Given the description of an element on the screen output the (x, y) to click on. 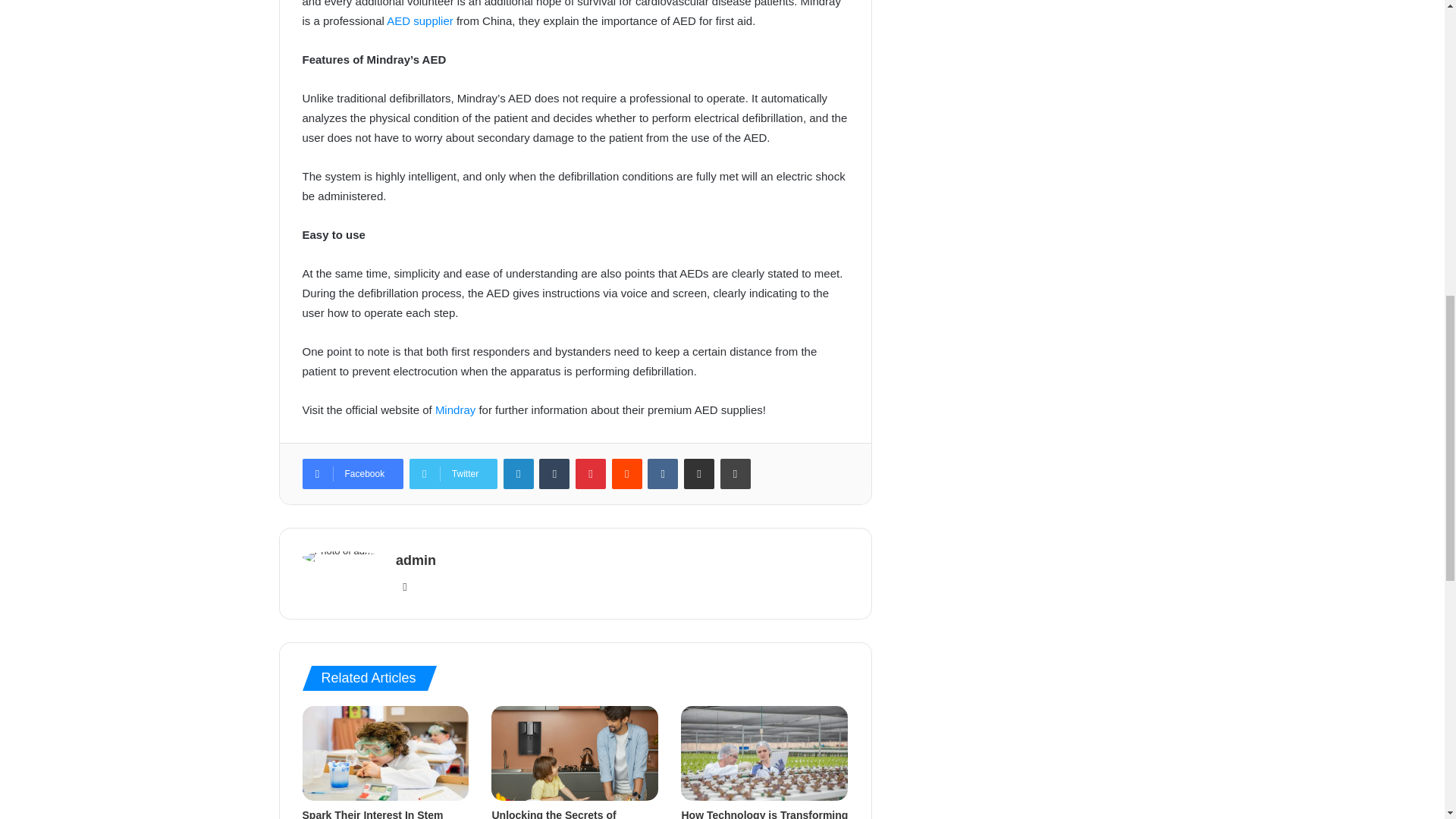
Pinterest (590, 473)
admin (415, 560)
Share via Email (699, 473)
Print (735, 473)
Facebook (352, 473)
LinkedIn (518, 473)
Reddit (626, 473)
Reddit (626, 473)
LinkedIn (518, 473)
Mindray (455, 409)
AED supplier (419, 20)
Print (735, 473)
VKontakte (662, 473)
Twitter (453, 473)
